Given the description of an element on the screen output the (x, y) to click on. 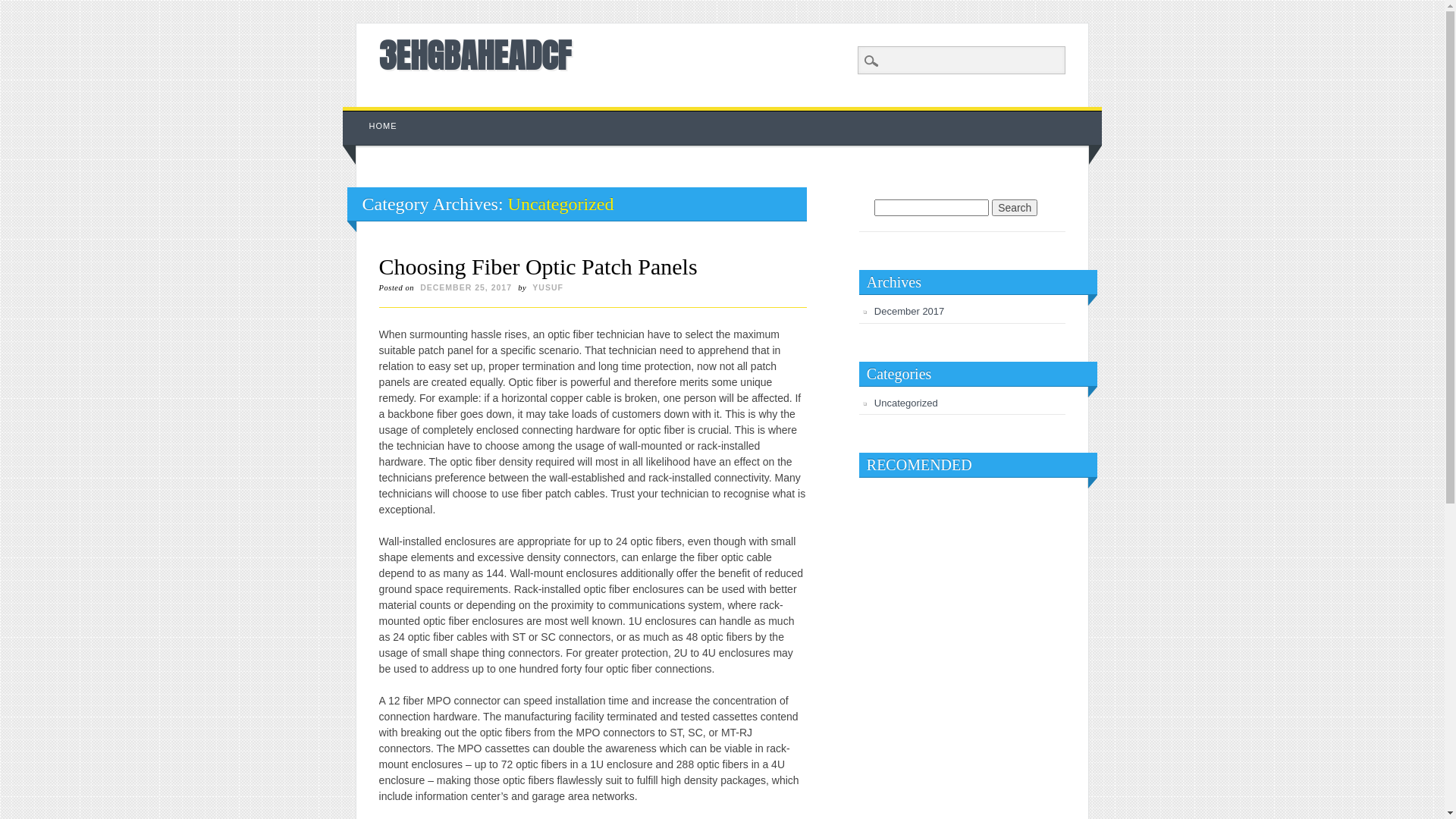
December 2017 Element type: text (909, 310)
Search Element type: text (22, 8)
DECEMBER 25, 2017 Element type: text (465, 286)
Skip to content Element type: text (377, 114)
YUSUF Element type: text (547, 286)
Search Element type: text (1014, 207)
Uncategorized Element type: text (906, 402)
Choosing Fiber Optic Patch Panels Element type: text (538, 266)
3EHGBAHEADCF Element type: text (475, 55)
HOME Element type: text (383, 125)
